Given the description of an element on the screen output the (x, y) to click on. 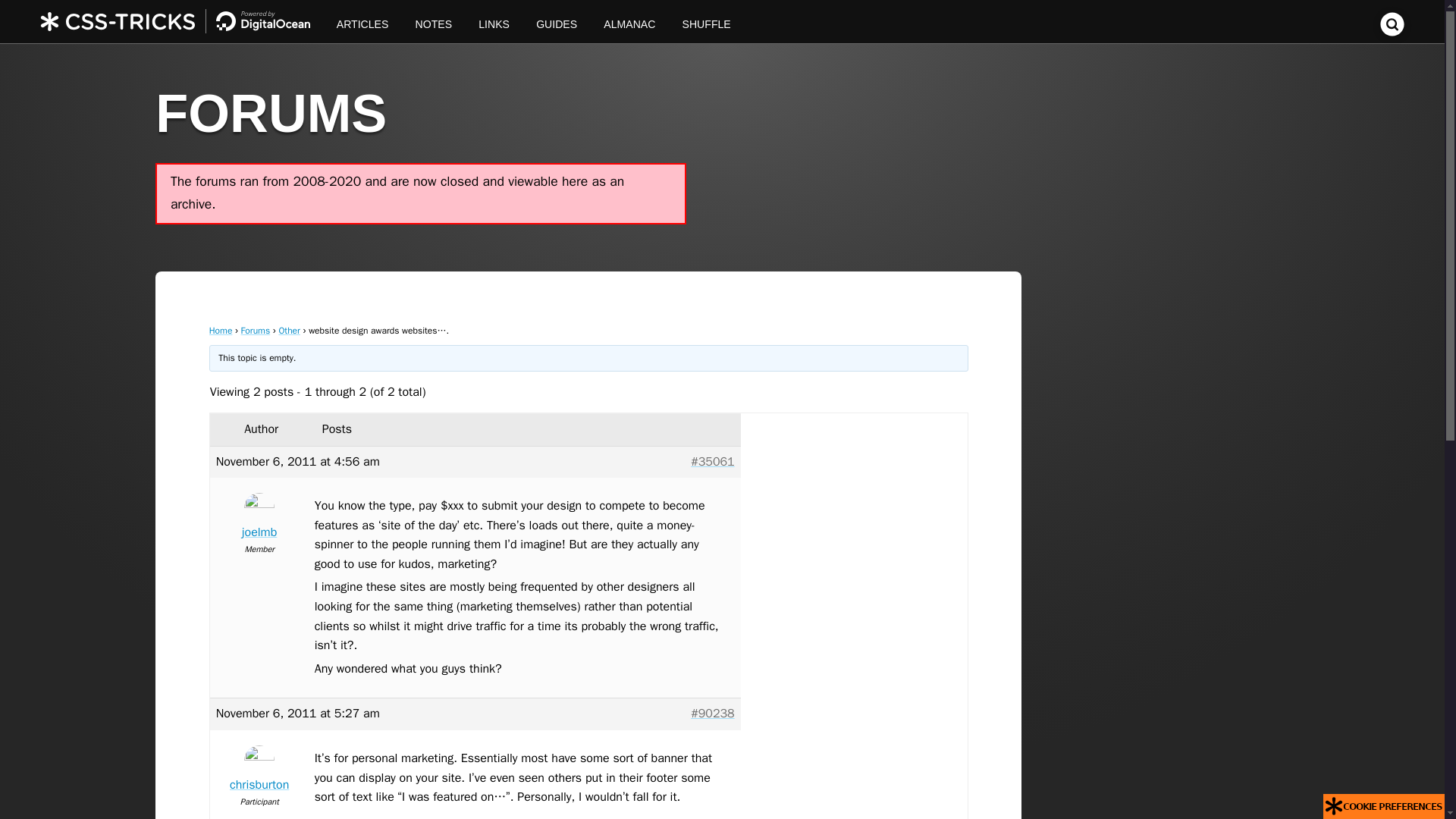
Search (1392, 31)
View chrisburton's profile (258, 772)
Other (288, 330)
CSS-Tricks (181, 21)
LINKS (493, 21)
ARTICLES (362, 21)
chrisburton (258, 772)
Home (220, 330)
Forums (255, 330)
View joelmb's profile (258, 519)
